Given the description of an element on the screen output the (x, y) to click on. 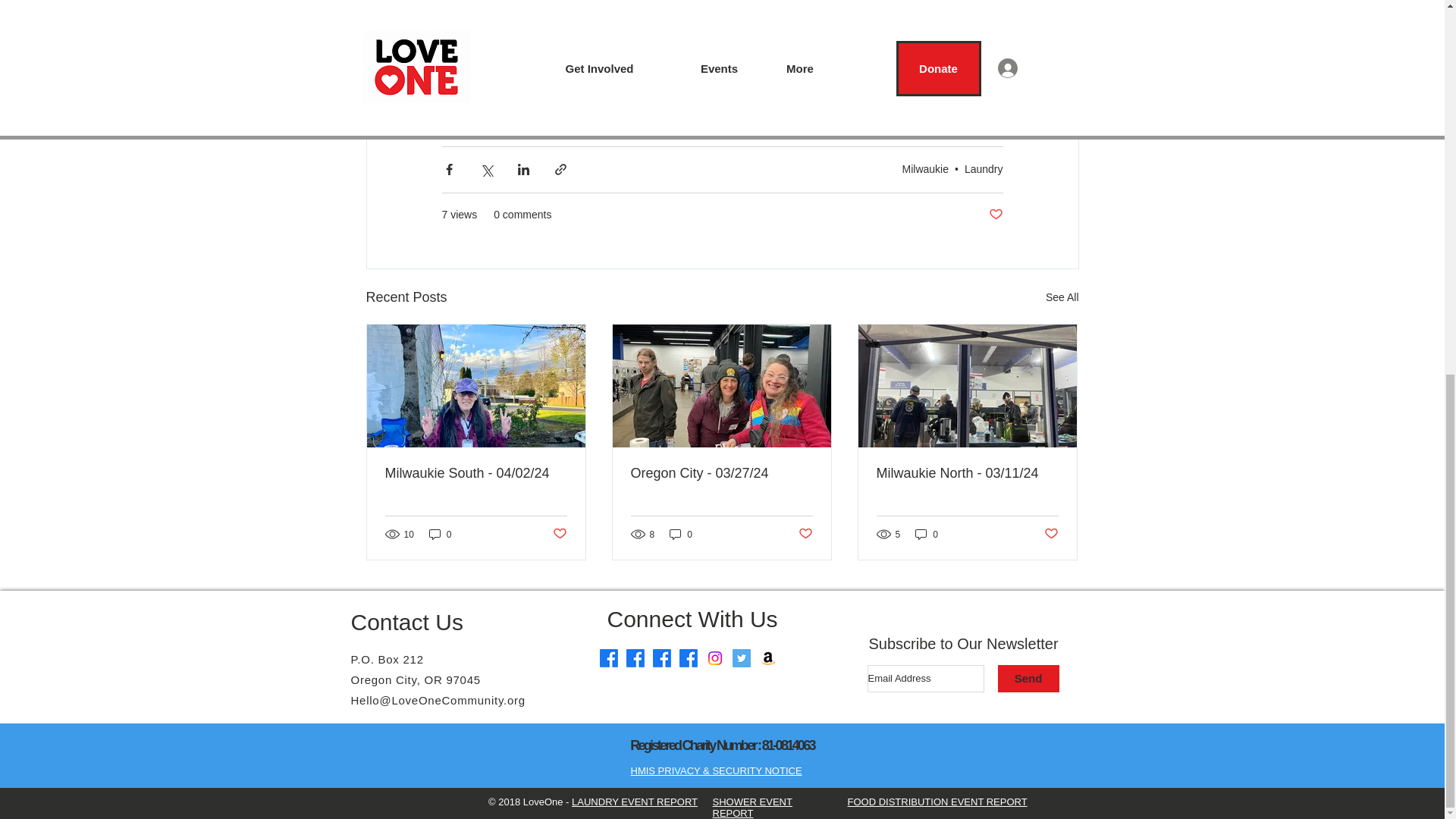
Laundry (983, 168)
Post not marked as liked (995, 214)
Post not marked as liked (558, 534)
0 (440, 534)
See All (1061, 297)
Milwaukie (925, 168)
